Given the description of an element on the screen output the (x, y) to click on. 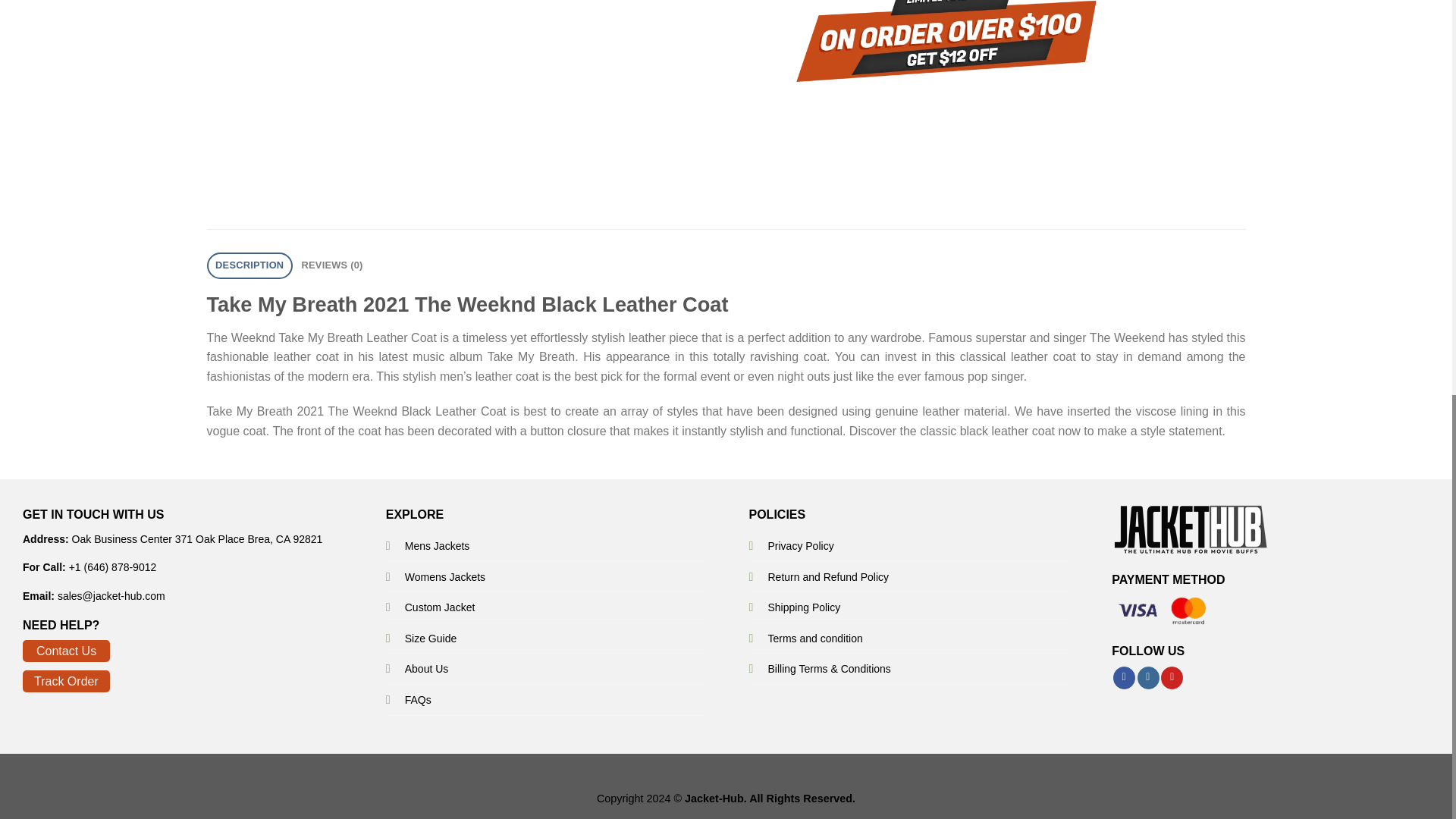
The Weeknd Take My Breath Coat (504, 4)
DESCRIPTION (249, 265)
Take My Breath 2021 Black Leather The Weeknd Coat (147, 4)
